Given the description of an element on the screen output the (x, y) to click on. 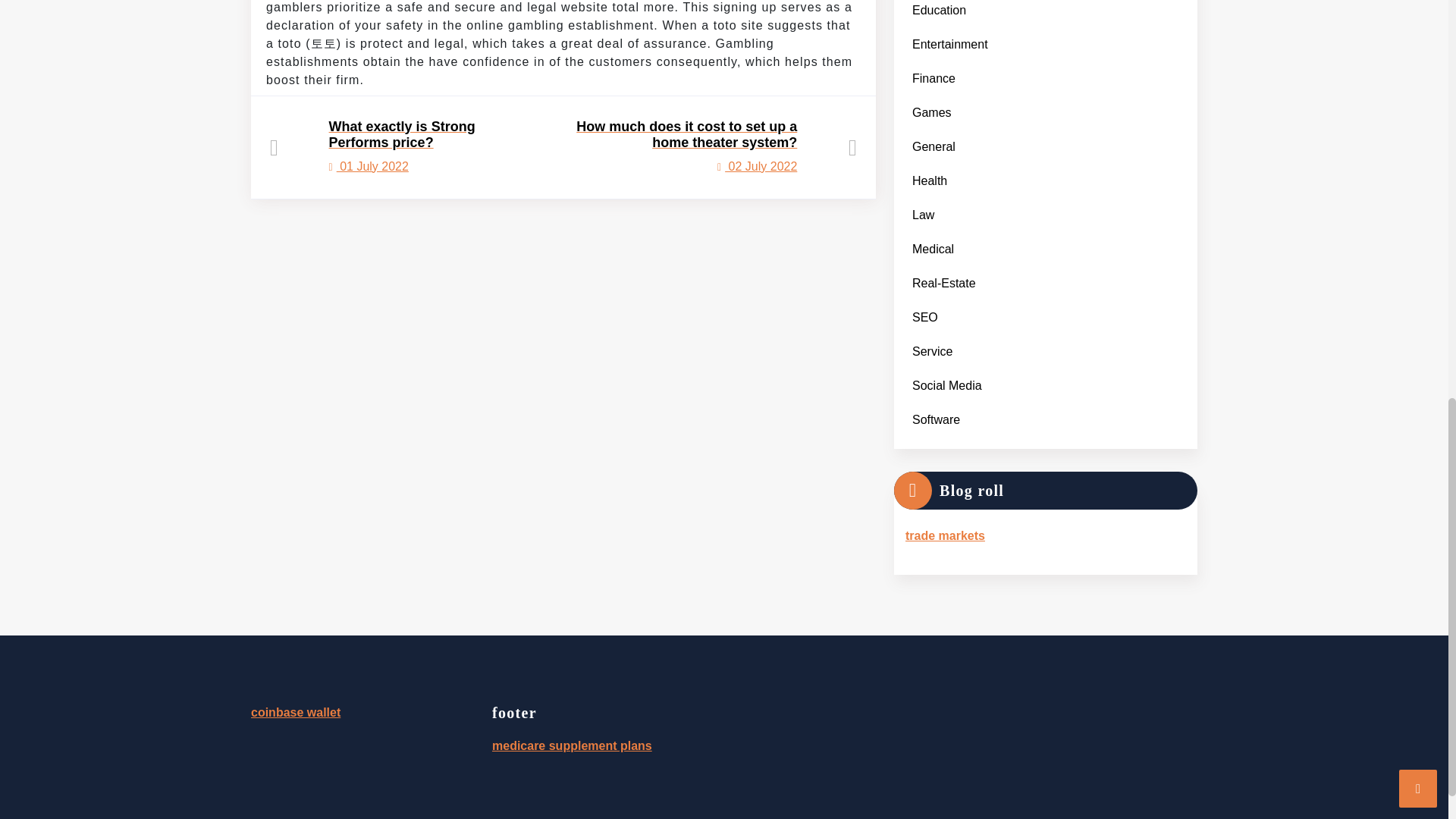
Entertainment (394, 146)
Games (949, 44)
Finance (931, 112)
Education (933, 78)
Health (938, 11)
General (929, 180)
